Given the description of an element on the screen output the (x, y) to click on. 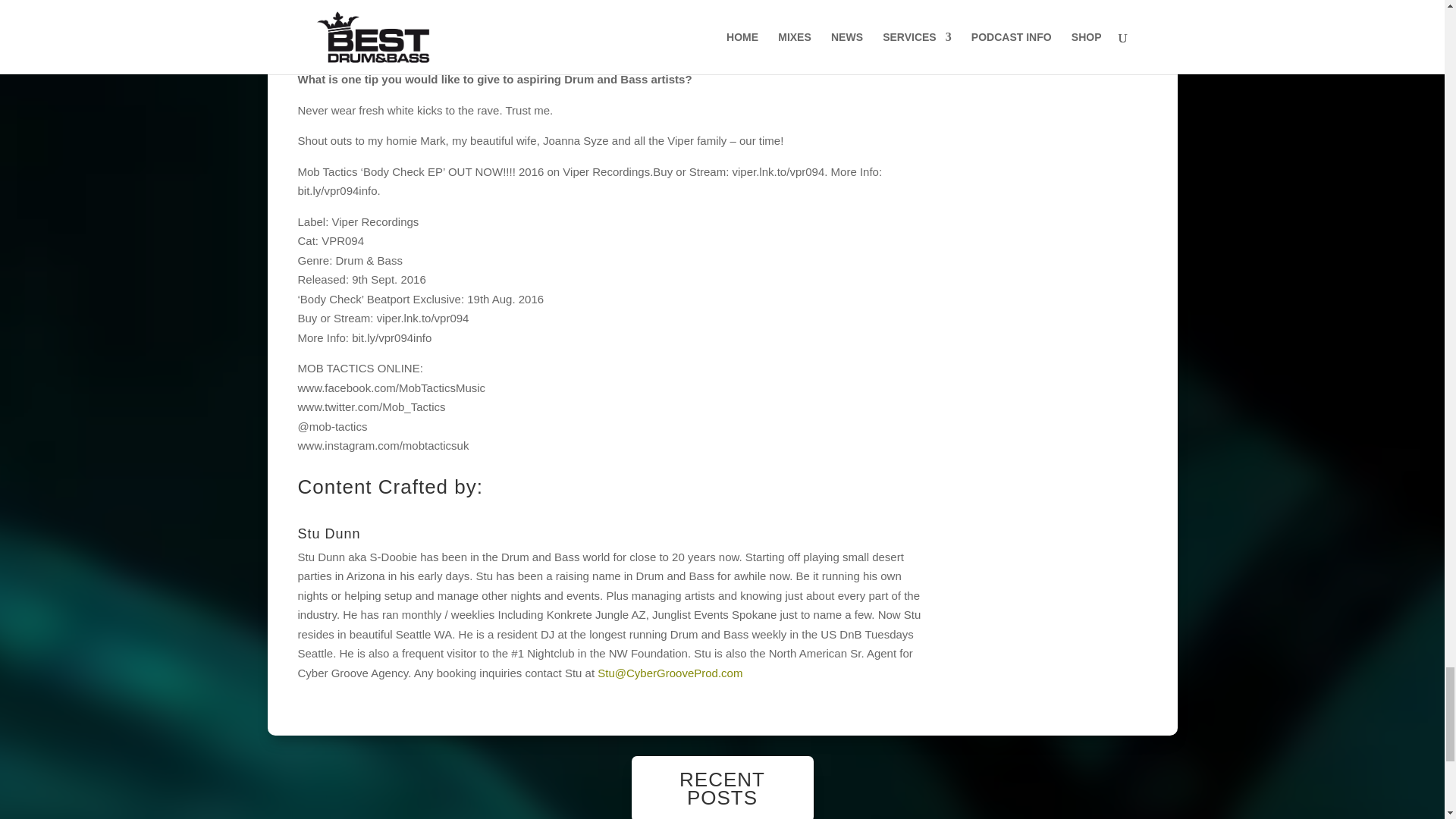
Stu Dunn (328, 533)
